Given the description of an element on the screen output the (x, y) to click on. 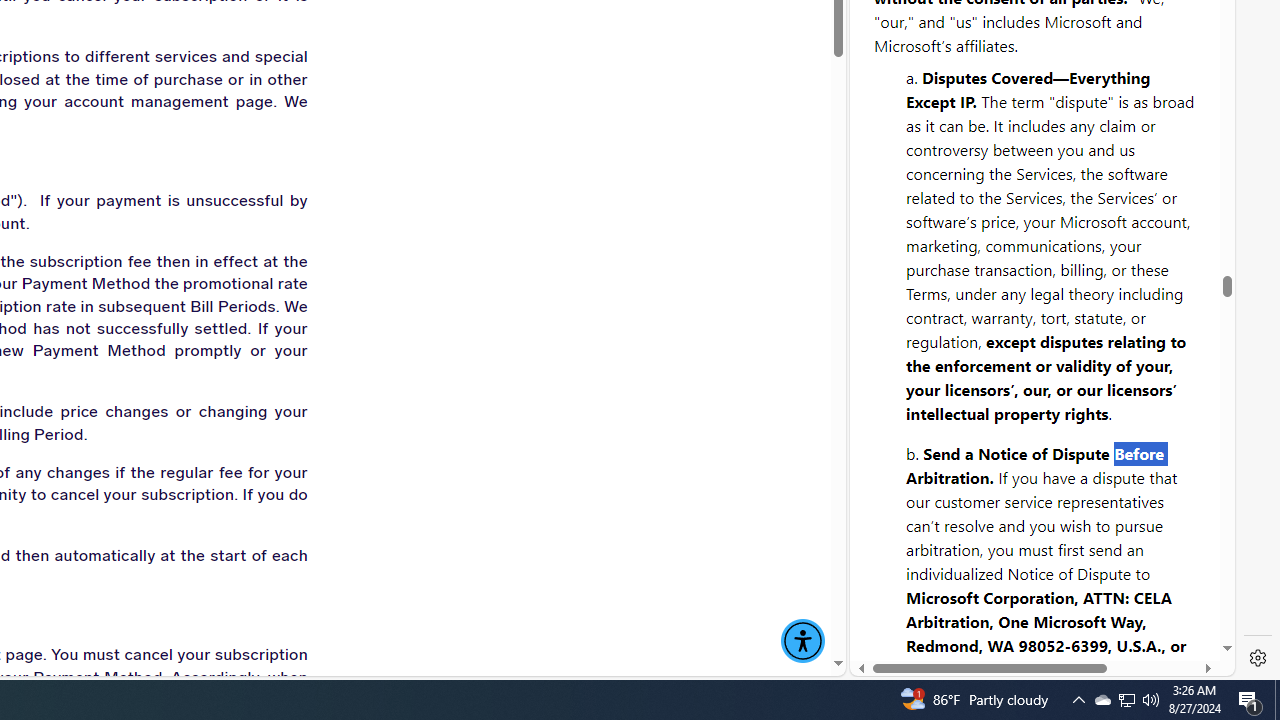
Accessibility Menu (802, 641)
Open in New Tab (1042, 631)
